Given the description of an element on the screen output the (x, y) to click on. 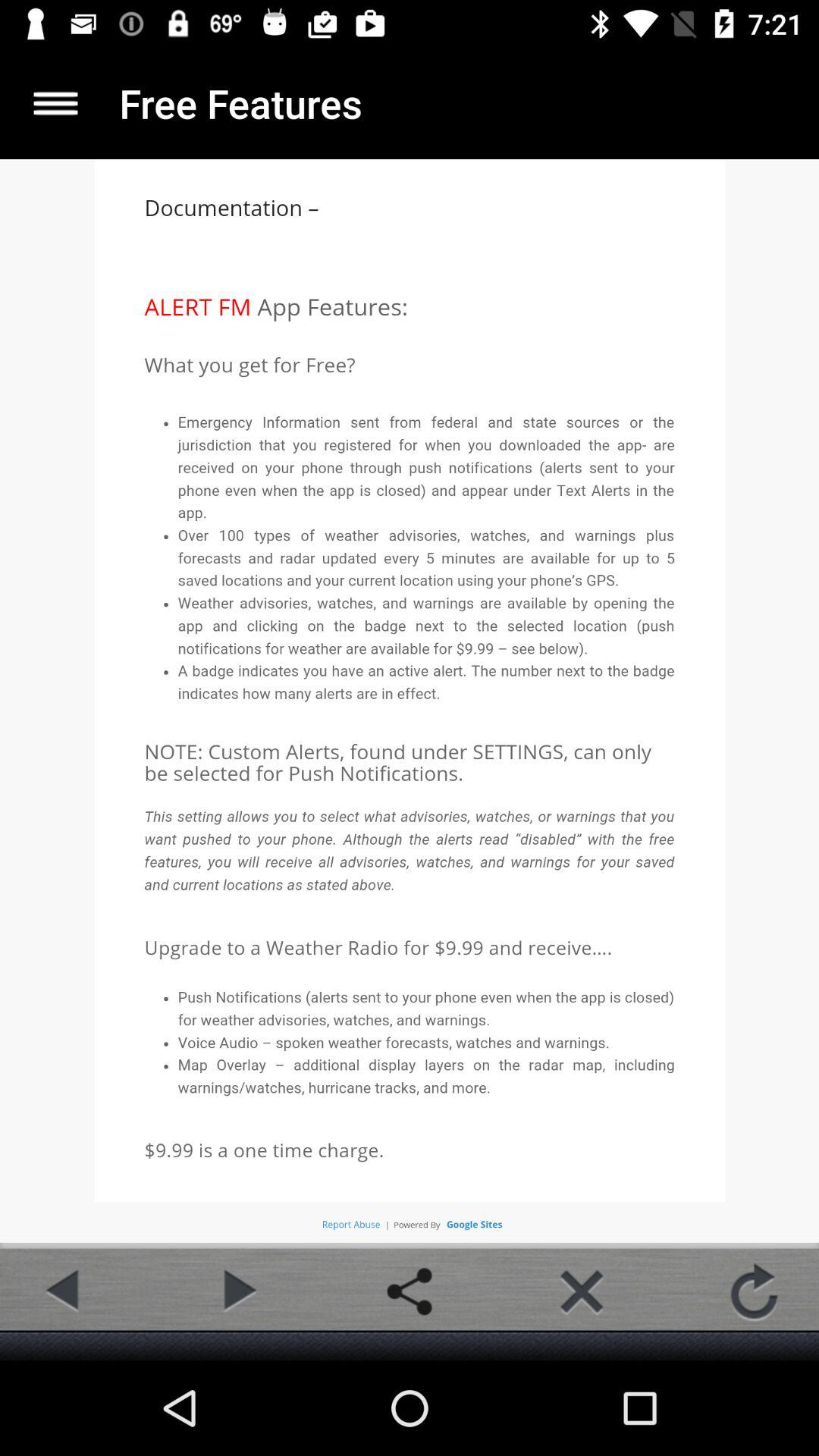
close (581, 1291)
